Given the description of an element on the screen output the (x, y) to click on. 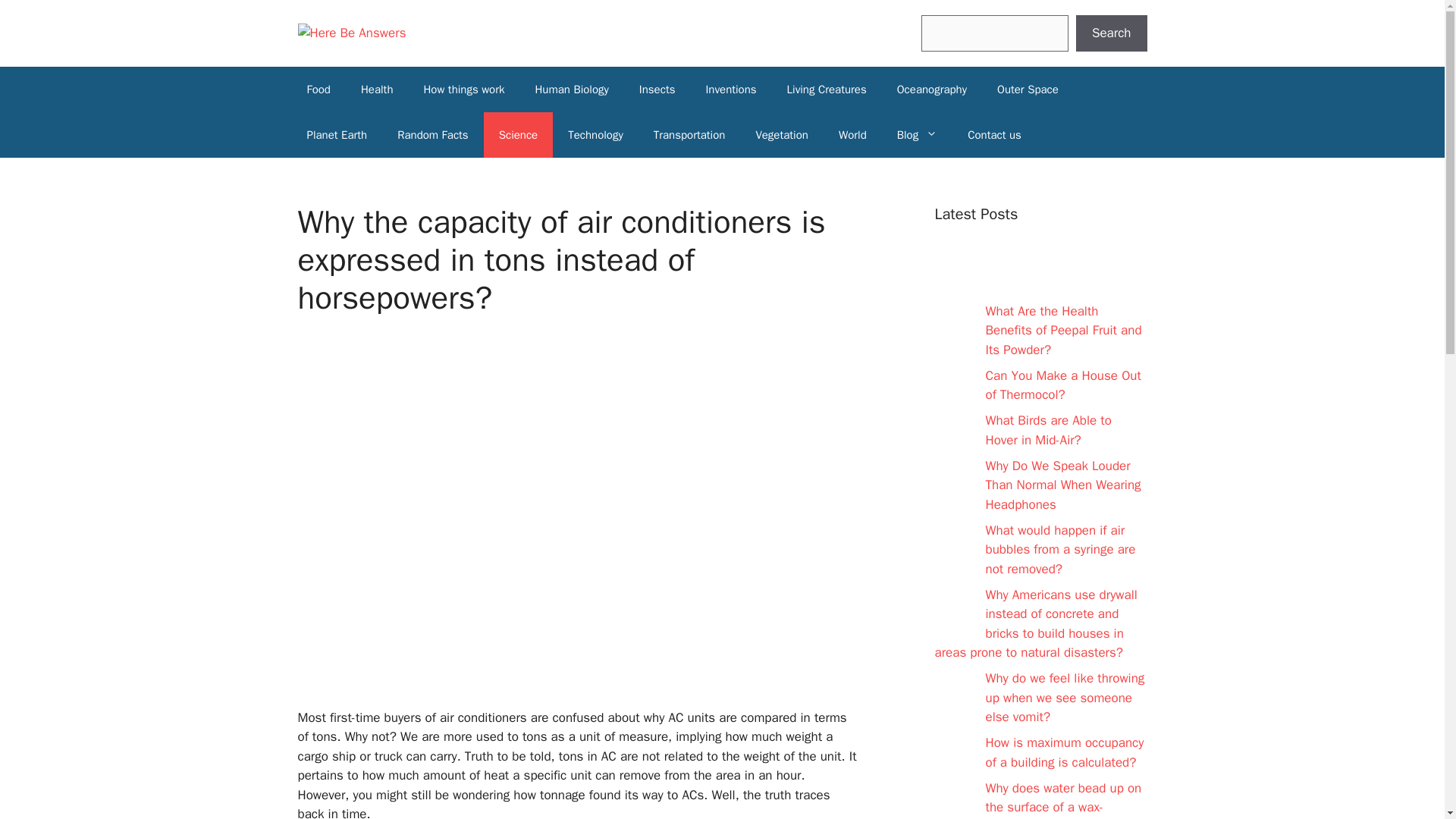
Random Facts (432, 135)
What Are the Health Benefits of Peepal Fruit and Its Powder? (1063, 330)
Health (377, 89)
Blog (917, 135)
Science (518, 135)
Inventions (730, 89)
What Birds are Able to Hover in Mid-Air? (1048, 429)
Living Creatures (826, 89)
Insects (657, 89)
How things work (463, 89)
Why Do We Speak Louder Than Normal When Wearing Headphones (1063, 484)
Planet Earth (336, 135)
Technology (596, 135)
Transportation (690, 135)
Oceanography (931, 89)
